Given the description of an element on the screen output the (x, y) to click on. 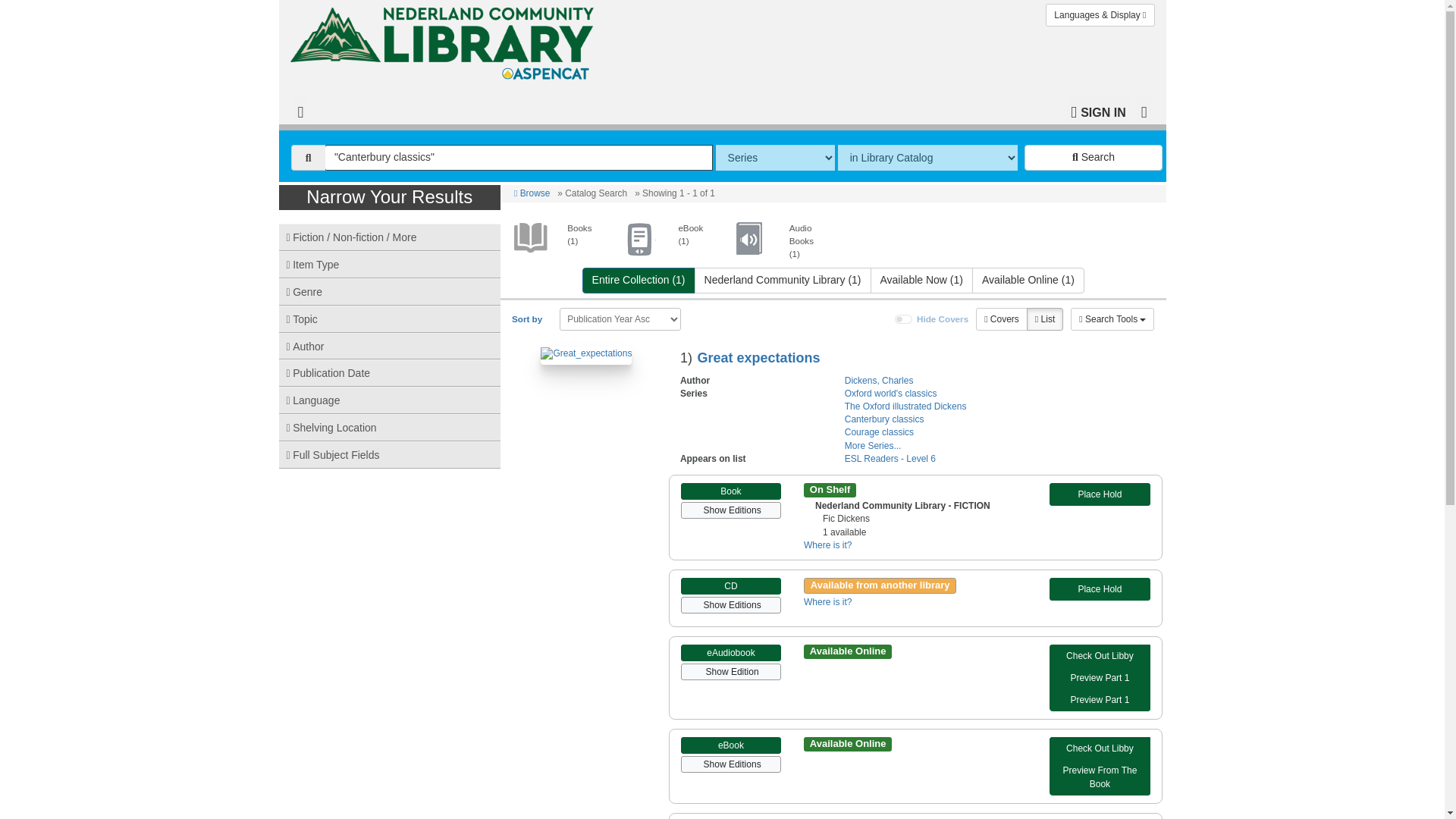
on (903, 318)
Lists (1044, 318)
Show Menu (1144, 110)
Browse the catalog (531, 193)
Browse (531, 193)
 Search (1093, 157)
Login (1098, 110)
"Canterbury classics" (518, 157)
SIGN IN (1098, 110)
The method of searching. (775, 157)
Browse the Catalog (300, 110)
Return to Catalog Home (444, 43)
Covers (1001, 318)
